Given the description of an element on the screen output the (x, y) to click on. 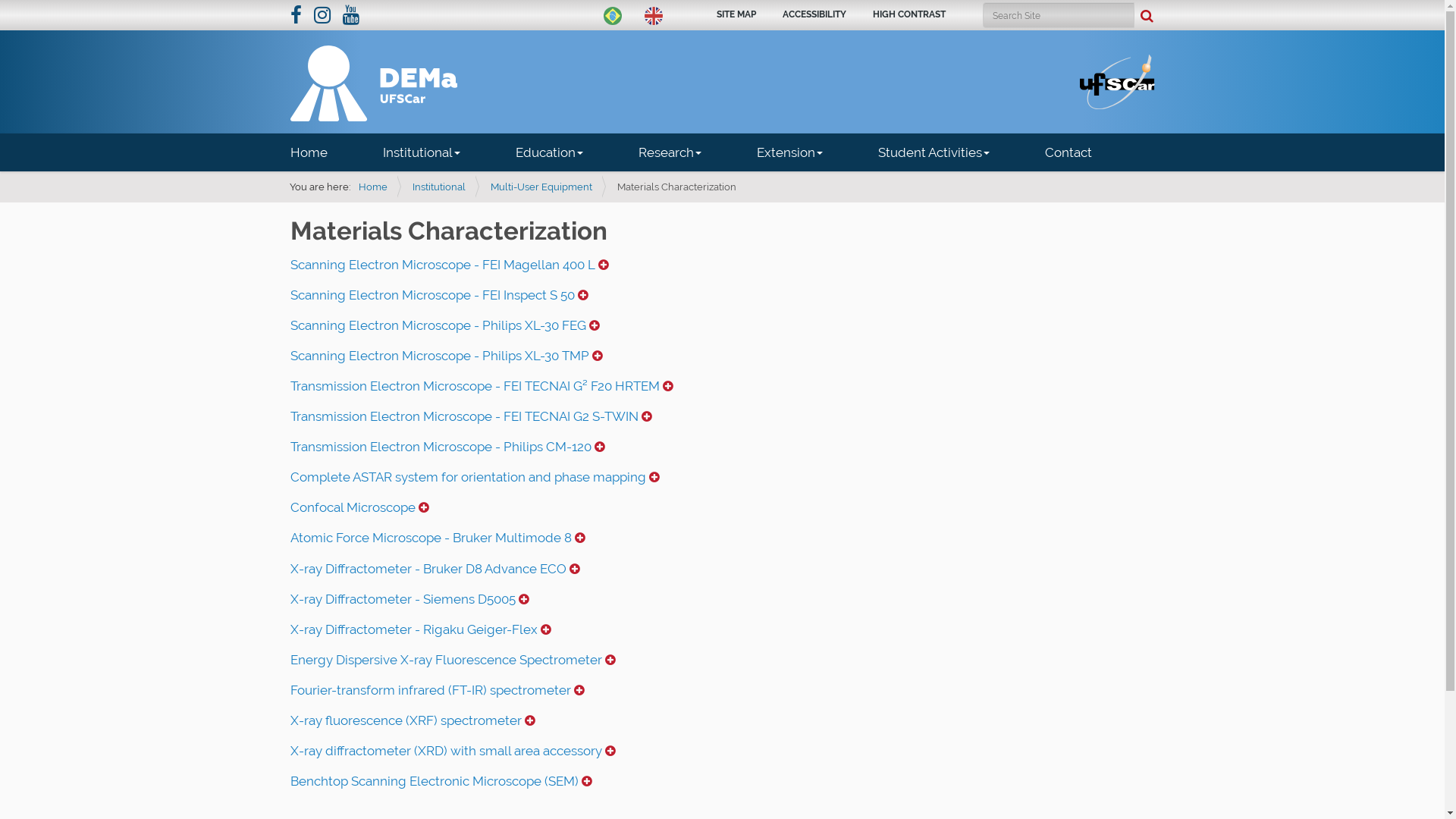
HIGH CONTRAST Element type: text (908, 14)
Scanning Electron Microscope - FEI Inspect S 50 Element type: text (438, 294)
Student Activities Element type: text (933, 152)
Portal UFSCar Element type: hover (1116, 79)
Contact Element type: text (1067, 152)
Multi-User Equipment Element type: text (540, 186)
Institutional Element type: text (438, 186)
Atomic Force Microscope - Bruker Multimode 8 Element type: text (436, 537)
Home Element type: text (371, 186)
Education Element type: text (548, 152)
Institutional Element type: text (420, 152)
Transmission Electron Microscope - FEI TECNAI G2 S-TWIN Element type: text (470, 415)
ACCESSIBILITY Element type: text (814, 14)
Research Element type: text (669, 152)
Fourier-transform infrared (FT-IR) spectrometer Element type: text (436, 689)
SITE MAP Element type: text (735, 14)
Scanning Electron Microscope - Philips XL-30 TMP Element type: text (445, 355)
Scanning Electron Microscope - Philips XL-30 FEG Element type: text (444, 324)
Confocal Microscope Element type: text (358, 506)
X-ray fluorescence (XRF) spectrometer Element type: text (411, 720)
English Element type: hover (653, 15)
Extension Element type: text (789, 152)
Energy Dispersive X-ray Fluorescence Spectrometer Element type: text (452, 659)
Transmission Electron Microscope - Philips CM-120 Element type: text (446, 446)
X-ray Diffractometer - Rigaku Geiger-Flex Element type: text (419, 629)
X-ray diffractometer (XRD) with small area accessory Element type: text (452, 750)
English Element type: hover (372, 83)
Scanning Electron Microscope - FEI Magellan 400 L Element type: text (448, 264)
English Element type: hover (653, 13)
Benchtop Scanning Electronic Microscope (SEM) Element type: text (440, 780)
X-ray Diffractometer - Bruker D8 Advance ECO Element type: text (434, 568)
X-ray Diffractometer - Siemens D5005 Element type: text (408, 598)
Home Element type: text (321, 152)
Complete ASTAR system for orientation and phase mapping Element type: text (473, 476)
Search Site Element type: hover (1058, 15)
